Given the description of an element on the screen output the (x, y) to click on. 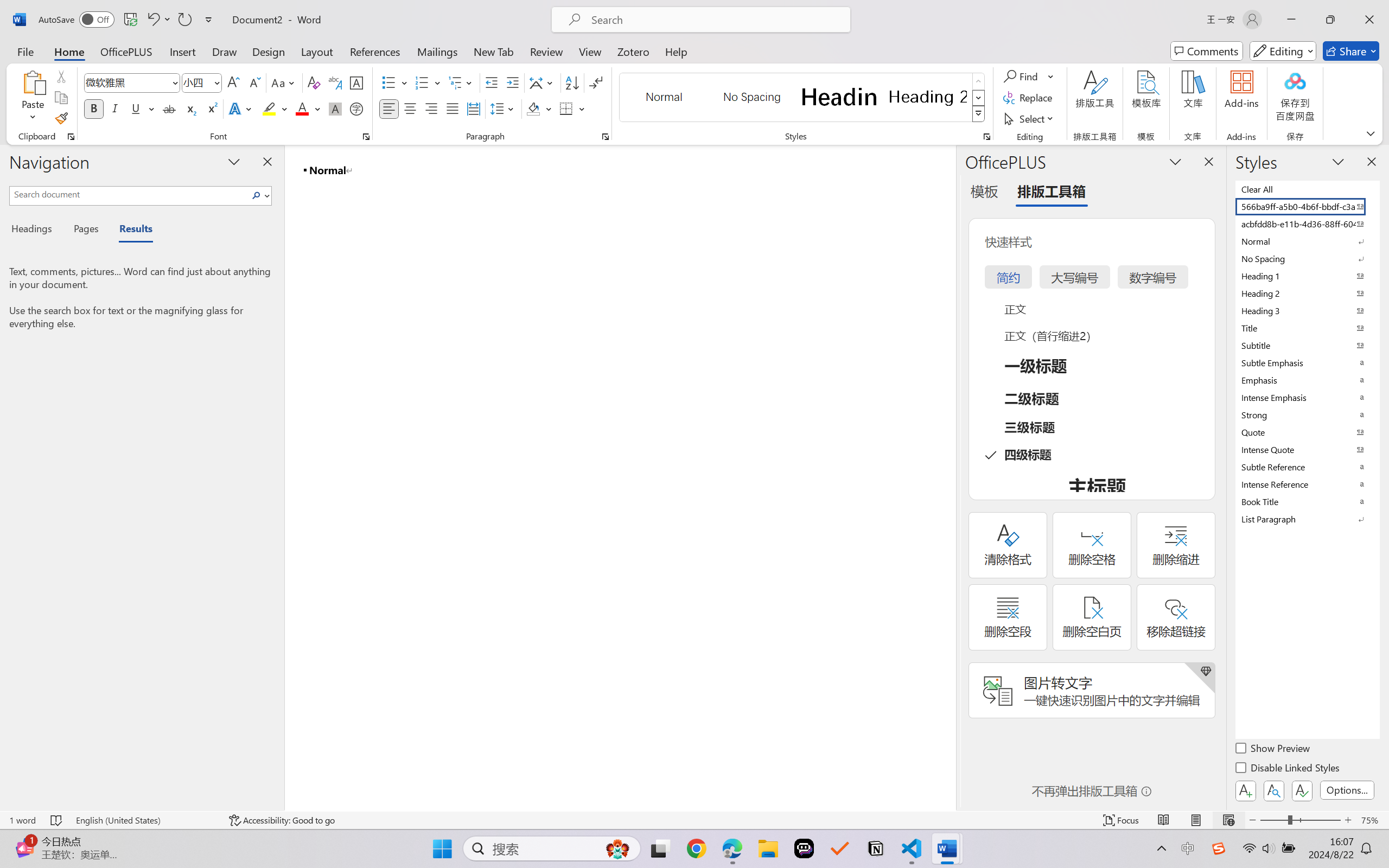
Undo Text Fill Effect (152, 19)
Subtitle (1306, 345)
Text Highlight Color Yellow (269, 108)
Paste (33, 81)
Character Border (356, 82)
Replace... (1029, 97)
Font... (365, 136)
Ribbon Display Options (1370, 132)
Close (1369, 19)
Strikethrough (169, 108)
Text Effects and Typography (241, 108)
